Given the description of an element on the screen output the (x, y) to click on. 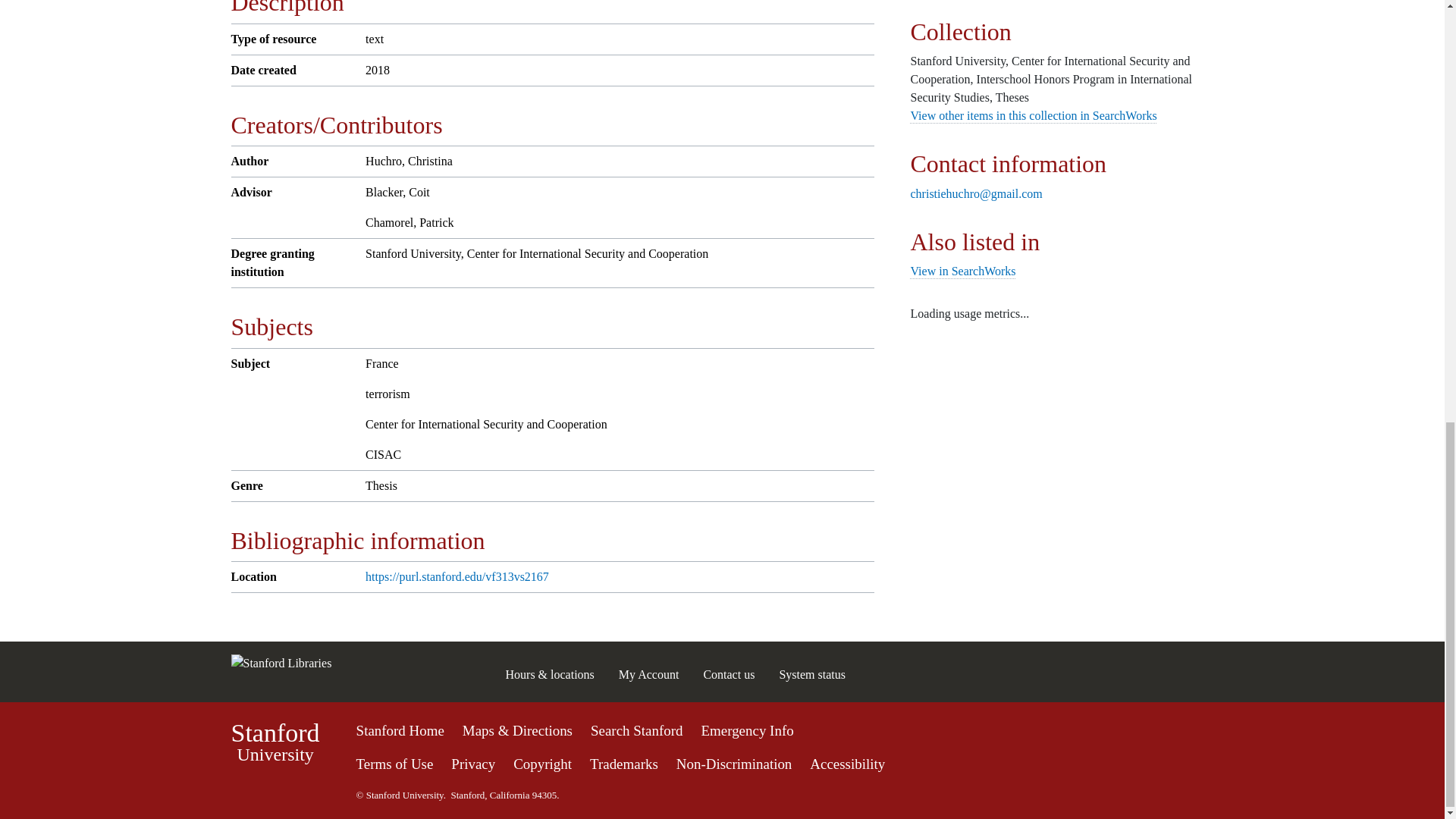
Privacy and cookie policy (473, 763)
Terms of use for sites (394, 763)
My Account (648, 674)
Report alleged copyright infringement (542, 763)
Report web accessibility issues (847, 763)
System status (274, 742)
Contact us (811, 674)
Common Stanford resources (728, 674)
Non-discrimination policy (722, 761)
